Given the description of an element on the screen output the (x, y) to click on. 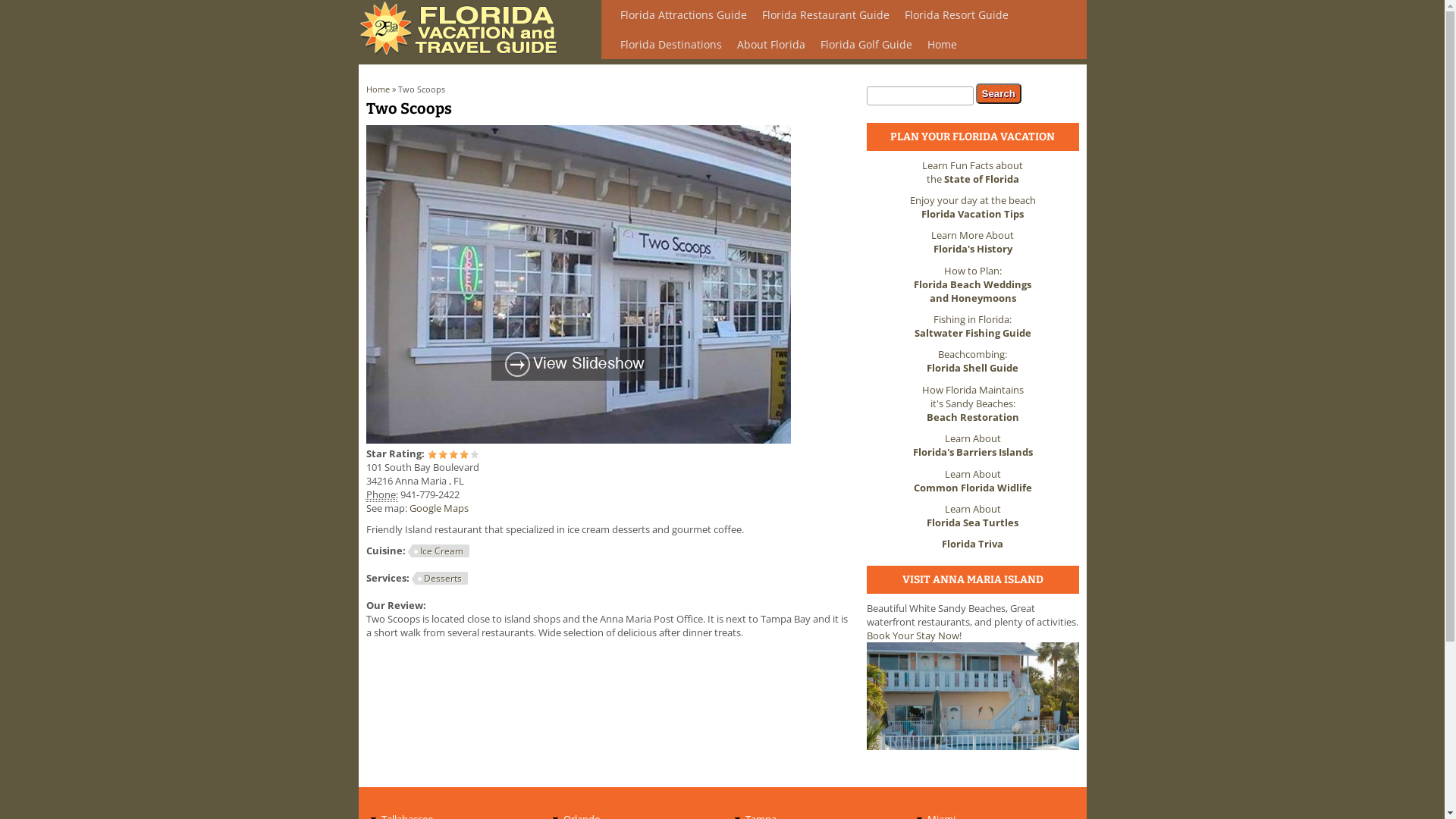
Florida Resort Guide Element type: text (955, 14)
Fishing in Florida:
Saltwater Fishing Guide Element type: text (972, 325)
Enjoy your day at the beach
Florida Vacation Tips Element type: text (972, 206)
Learn Fun Facts about
the State of Florida Element type: text (972, 171)
How Florida Maintains
it's Sandy Beaches:
Beach Restoration Element type: text (972, 402)
About Florida Element type: text (770, 44)
How to Plan:
Florida Beach Weddings
and Honeymoons Element type: text (972, 283)
Search Element type: text (997, 93)
Enter the terms you wish to search for. Element type: hover (919, 95)
Florida Golf Guide Element type: text (865, 44)
Learn About
Common Florida Widlife Element type: text (972, 480)
Home Element type: hover (461, 52)
Two Scoops Element type: hover (577, 438)
Florida Destinations Element type: text (670, 44)
Home Element type: text (377, 88)
Learn About
Florida's Barriers Islands Element type: text (972, 444)
Book Your Stay Now Element type: text (912, 635)
Florida Triva Element type: text (972, 543)
Learn More About
Florida's History Element type: text (972, 241)
Desserts Element type: text (439, 577)
Home Element type: text (941, 44)
Google Maps Element type: text (438, 507)
Learn About
Florida Sea Turtles Element type: text (972, 515)
Beachcombing:
Florida Shell Guide Element type: text (972, 360)
Ice Cream Element type: text (438, 550)
Florida Attractions Guide Element type: text (683, 14)
Florida Restaurant Guide Element type: text (824, 14)
